Given the description of an element on the screen output the (x, y) to click on. 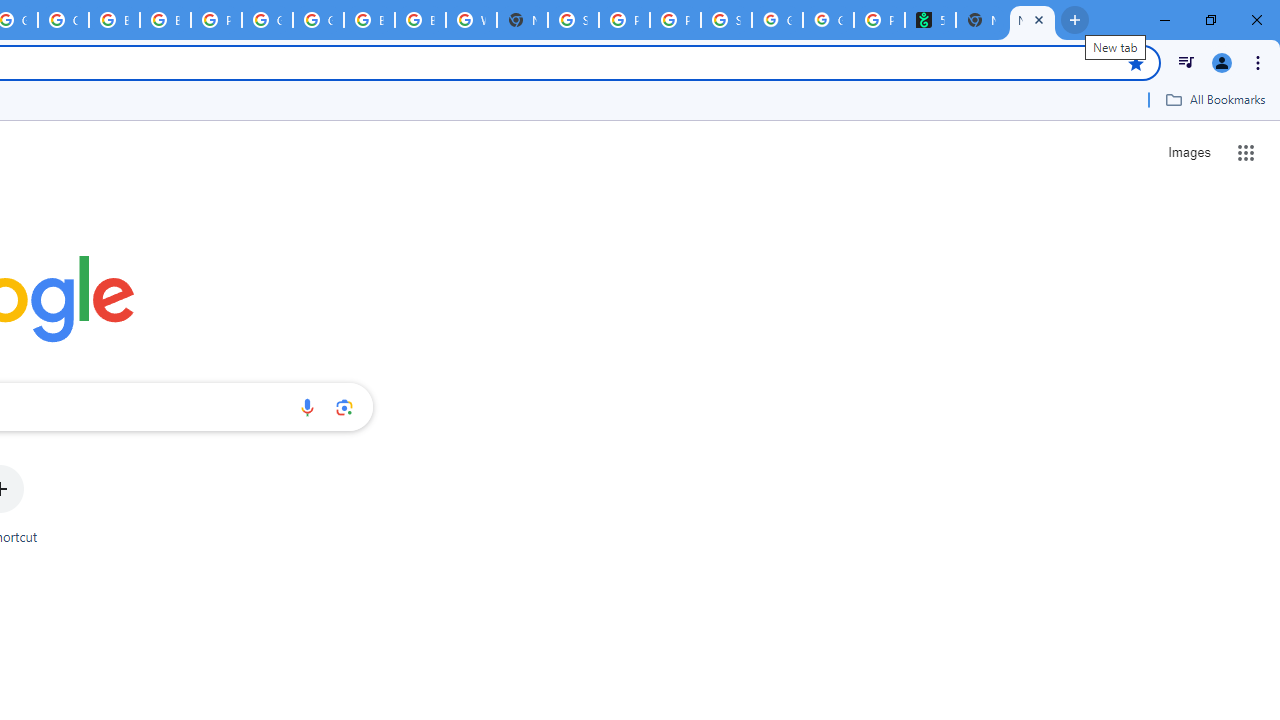
Browse Chrome as a guest - Computer - Google Chrome Help (113, 20)
